Given the description of an element on the screen output the (x, y) to click on. 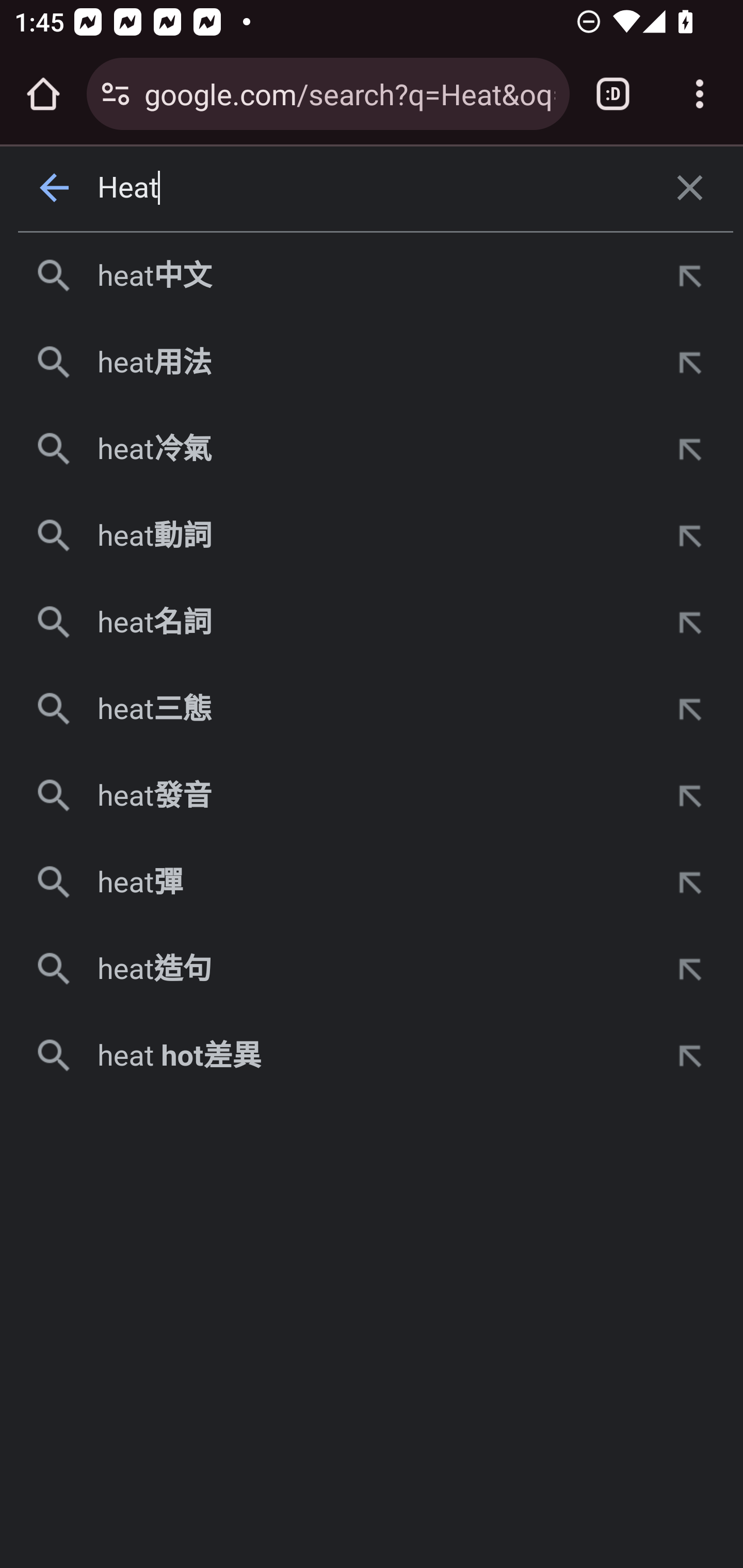
Open the home page (43, 93)
Connection is secure (115, 93)
Switch or close tabs (612, 93)
Customize and control Google Chrome (699, 93)
上一頁 (54, 188)
清除搜尋內容 (690, 188)
Heat (372, 188)
